Given the description of an element on the screen output the (x, y) to click on. 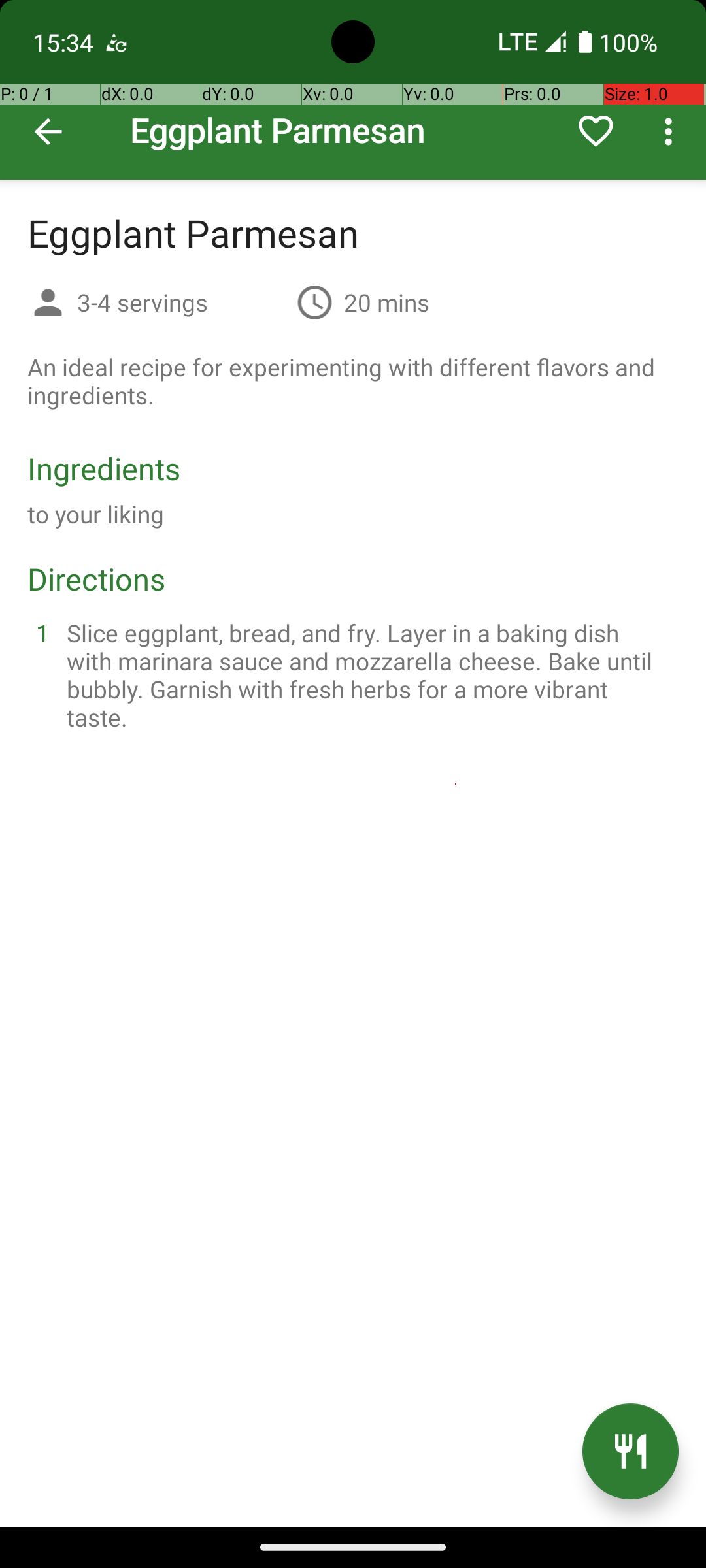
to your liking Element type: android.widget.TextView (95, 513)
Slice eggplant, bread, and fry. Layer in a baking dish with marinara sauce and mozzarella cheese. Bake until bubbly. Garnish with fresh herbs for a more vibrant taste. Element type: android.widget.TextView (368, 674)
